Given the description of an element on the screen output the (x, y) to click on. 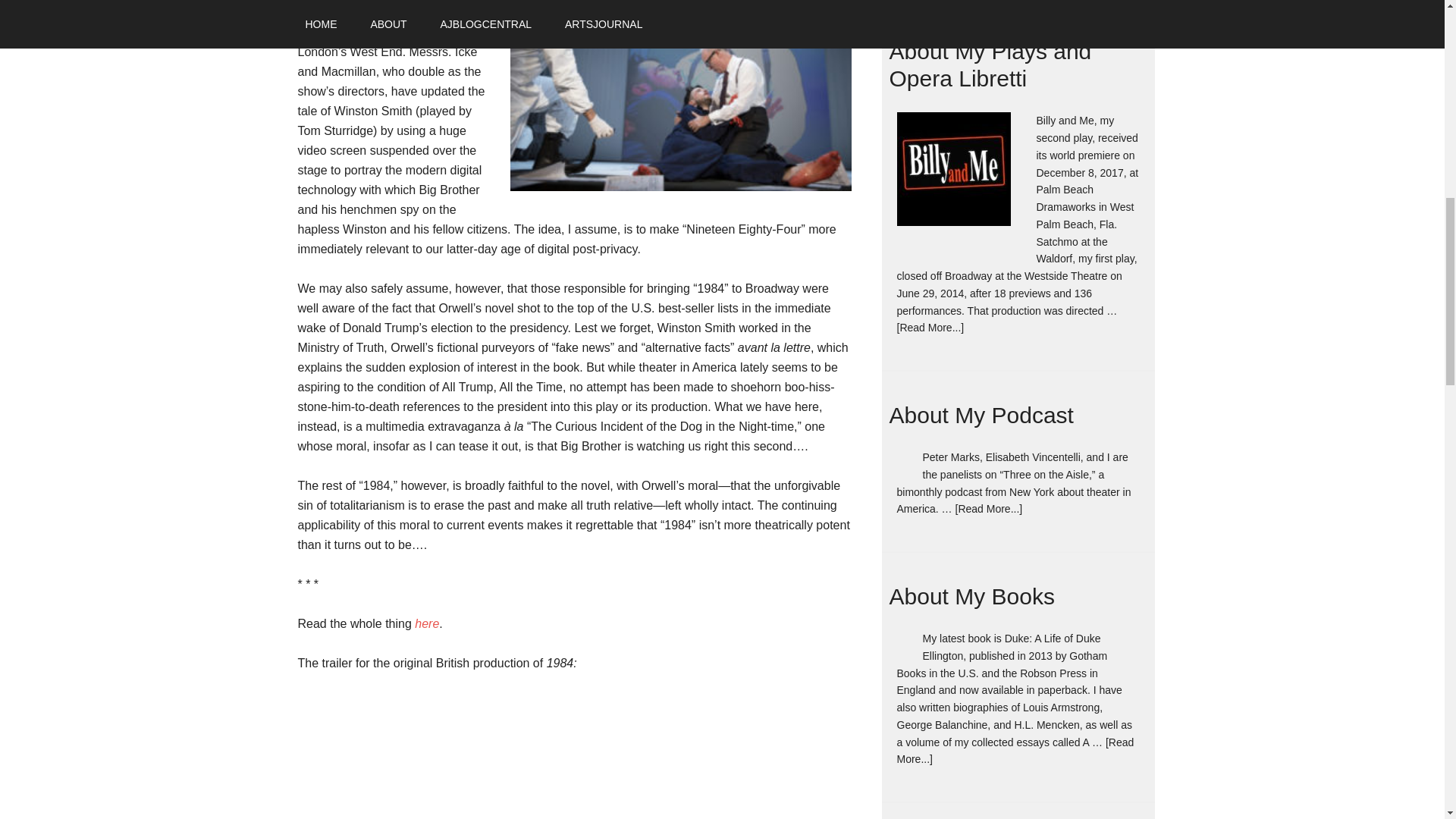
About My Podcast (980, 414)
About My Plays and Opera Libretti (989, 64)
About My Podcast (980, 414)
About My Plays and Opera Libretti (989, 64)
here (426, 623)
About My Books (971, 596)
About My Plays and Opera Libretti (961, 180)
About My Books (971, 596)
